Given the description of an element on the screen output the (x, y) to click on. 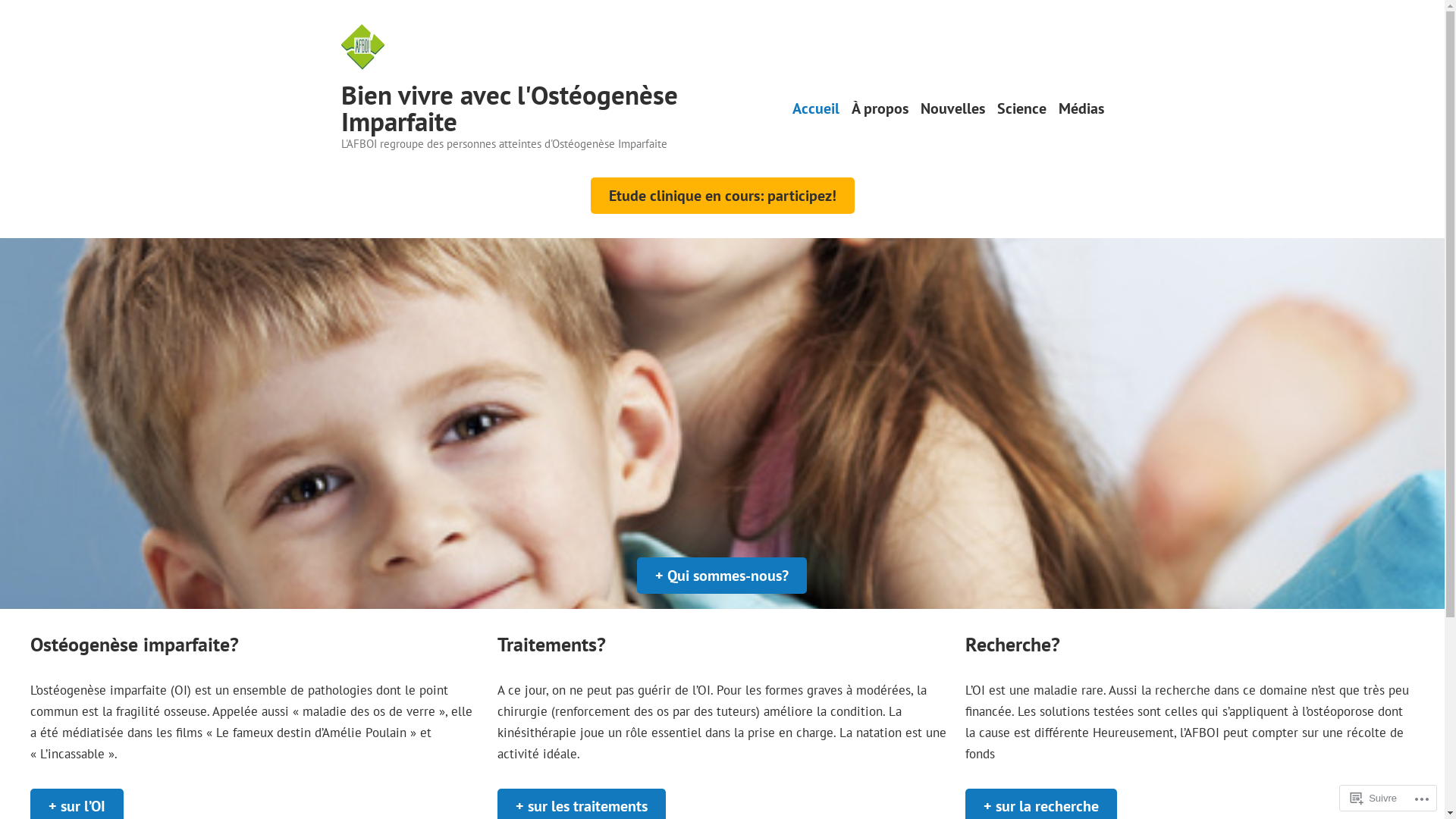
Accueil Element type: text (814, 107)
Nouvelles Element type: text (952, 107)
Science Element type: text (1020, 107)
+ Qui sommes-nous? Element type: text (721, 575)
Etude clinique en cours: participez! Element type: text (721, 195)
Suivre Element type: text (1373, 797)
